Given the description of an element on the screen output the (x, y) to click on. 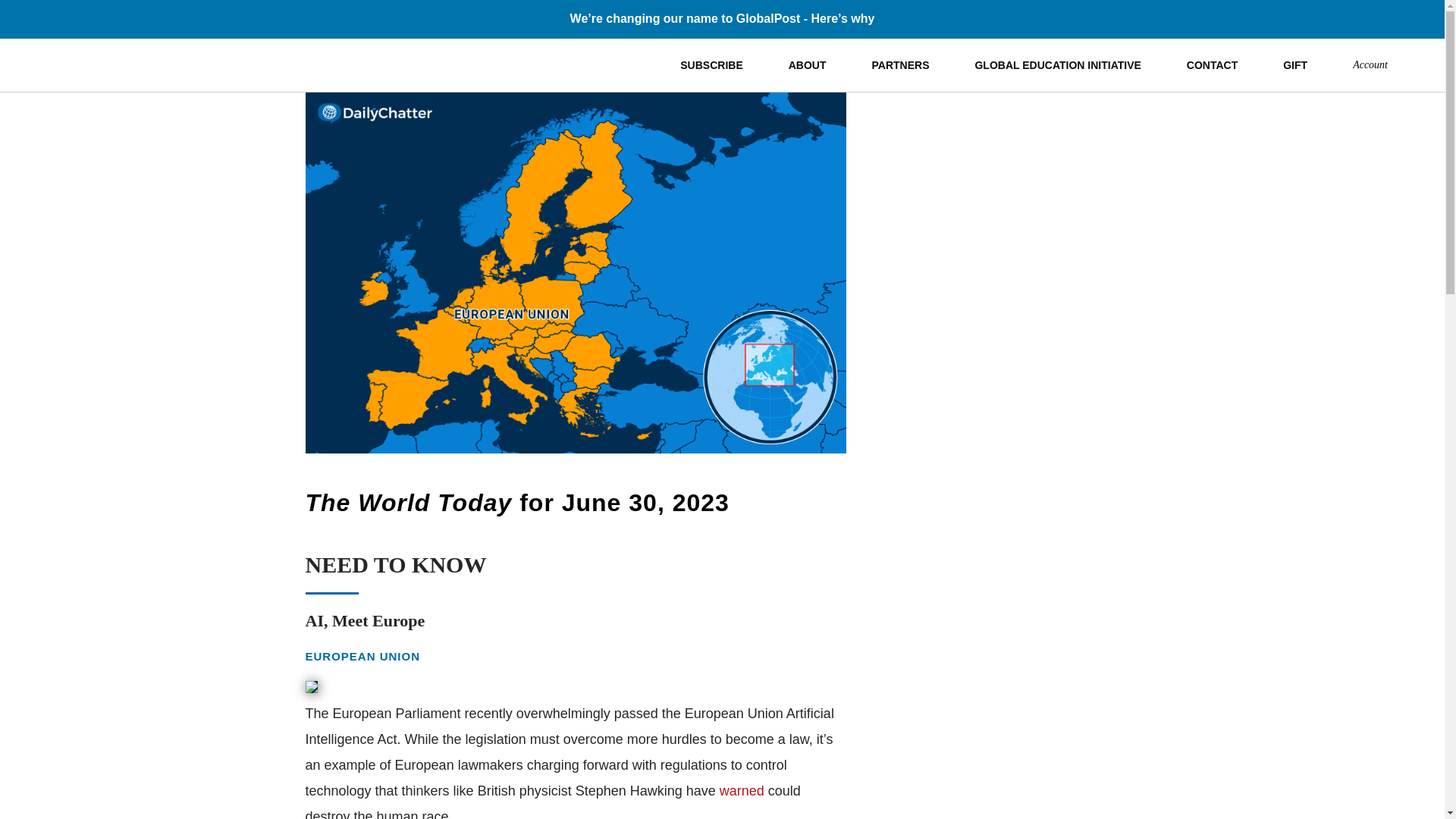
warned (741, 790)
GIFT (1295, 64)
PARTNERS (900, 64)
CONTACT (1211, 64)
GLOBAL EDUCATION INITIATIVE (1057, 64)
Account (1370, 64)
ABOUT (806, 64)
SUBSCRIBE (711, 64)
